Given the description of an element on the screen output the (x, y) to click on. 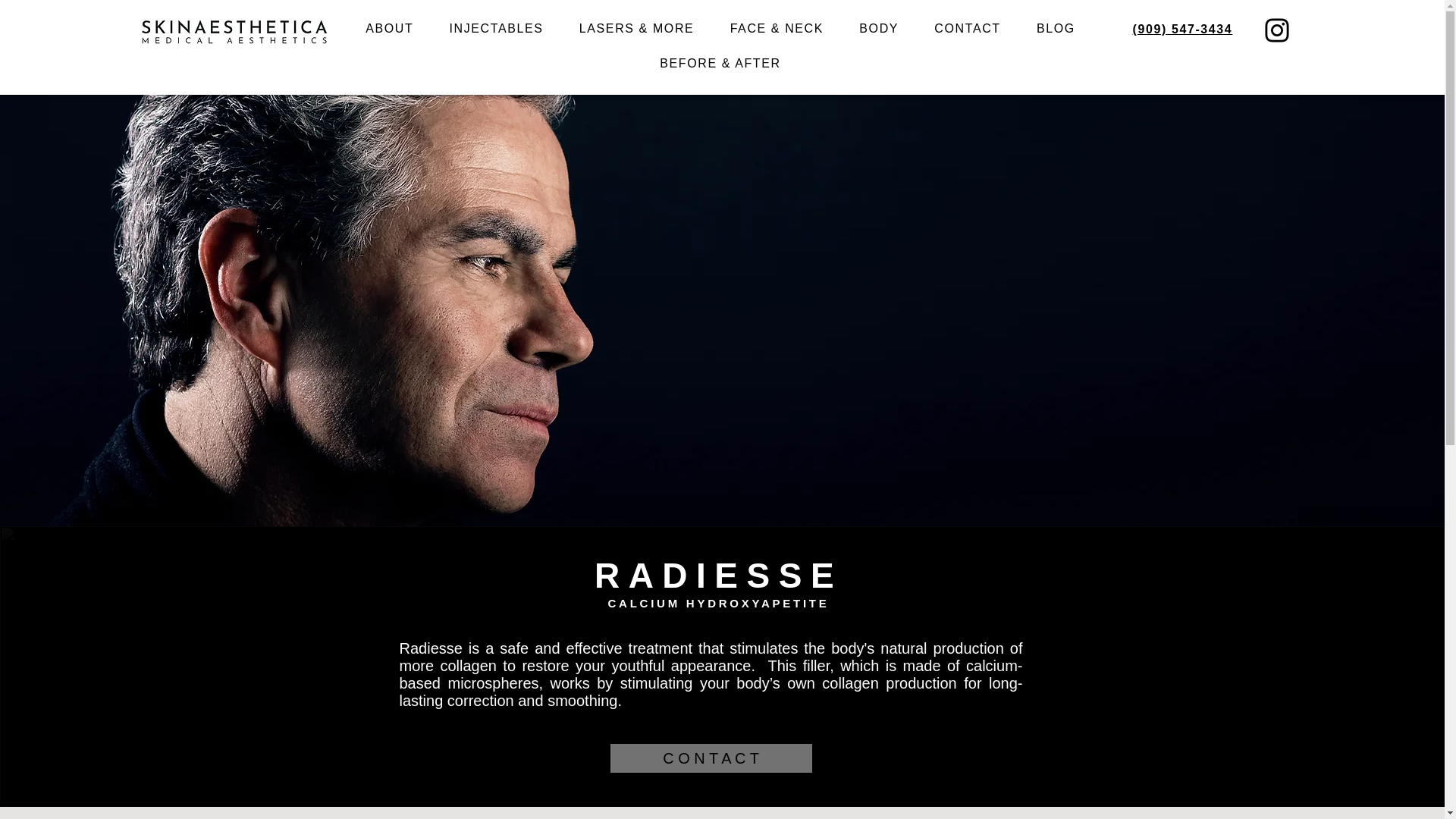
CONTACT (968, 28)
C O N T A C T (710, 758)
BLOG (1055, 28)
ABOUT (389, 28)
